Given the description of an element on the screen output the (x, y) to click on. 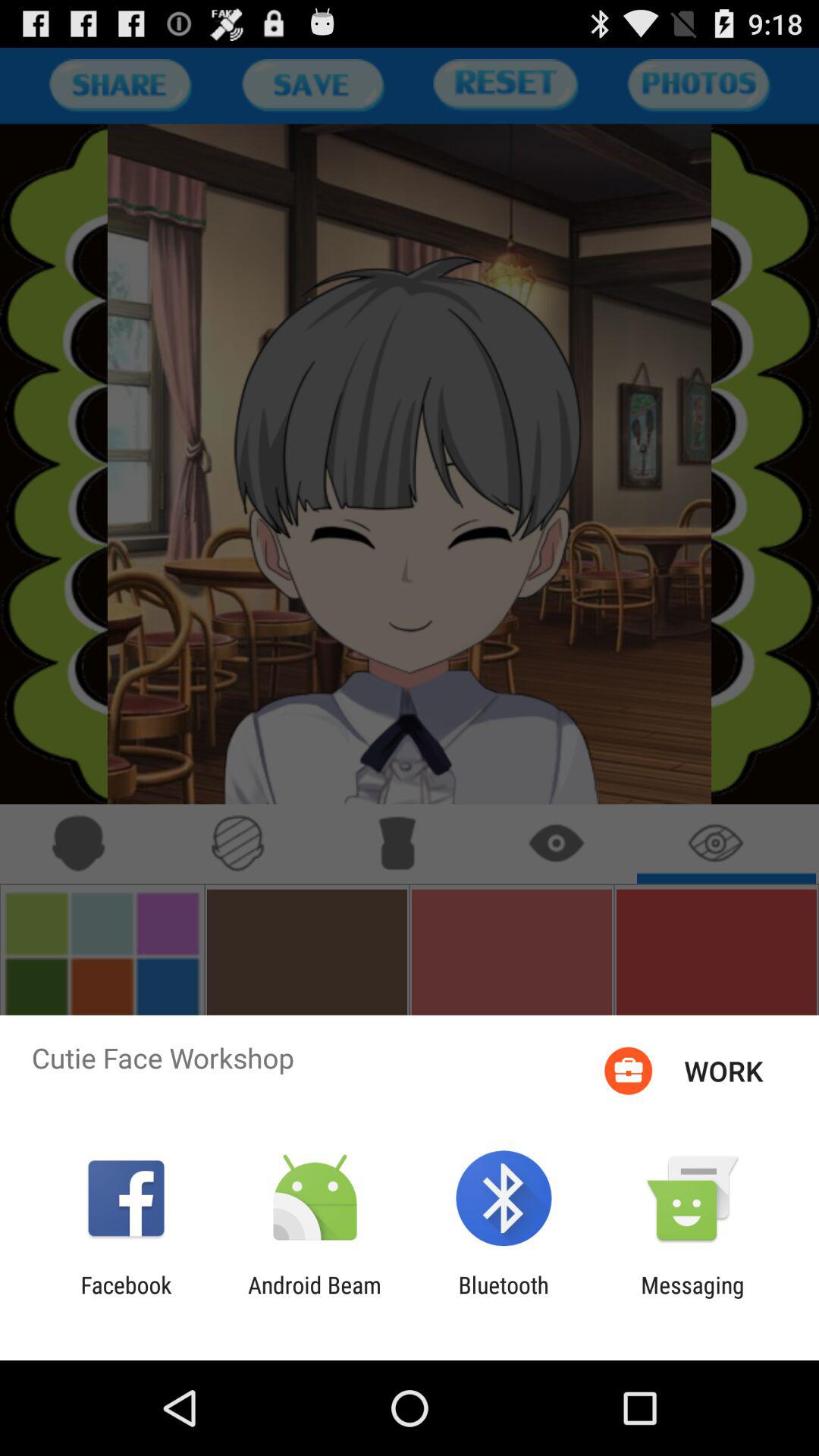
launch messaging icon (692, 1298)
